Given the description of an element on the screen output the (x, y) to click on. 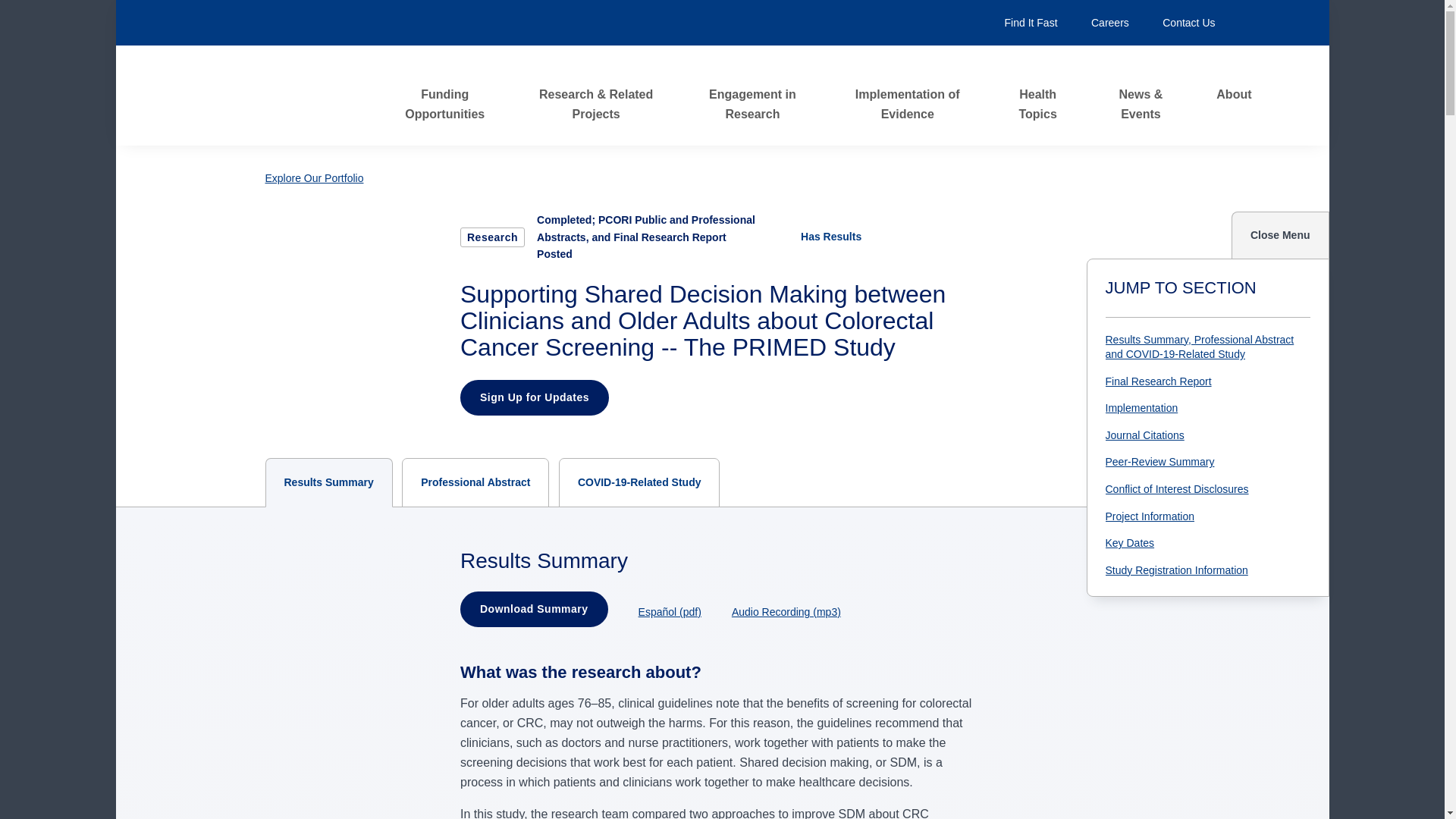
Results Summary (328, 481)
Search (1252, 22)
Home (281, 95)
Download Summary (534, 609)
Careers (1109, 22)
Sign Up for Updates (534, 398)
Contact Us (1187, 22)
COVID-19-Related Study (639, 481)
Study Registration Information (1201, 570)
Implementation (1201, 408)
Conflict of Interest Disclosures (1201, 489)
Project Information (1201, 516)
Key Dates (1201, 543)
Close Menu (1280, 234)
